Given the description of an element on the screen output the (x, y) to click on. 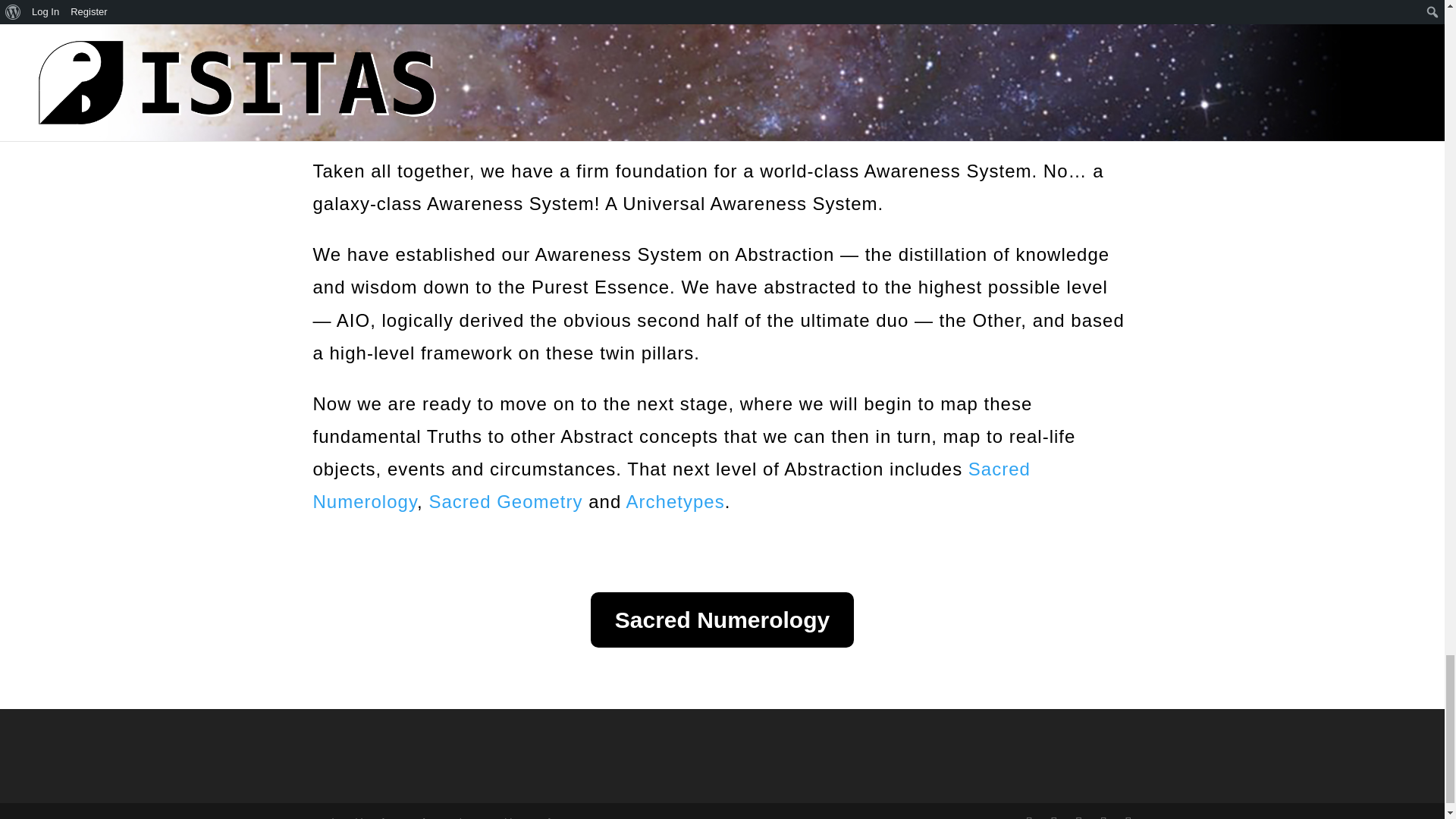
Archetypes (675, 501)
Ten Immutable Attributions of Objects (676, 106)
Object (533, 86)
Sacred Numerology (671, 484)
Sacred Geometry (505, 501)
Sacred Numerology (722, 619)
abstraction (794, 86)
